Given the description of an element on the screen output the (x, y) to click on. 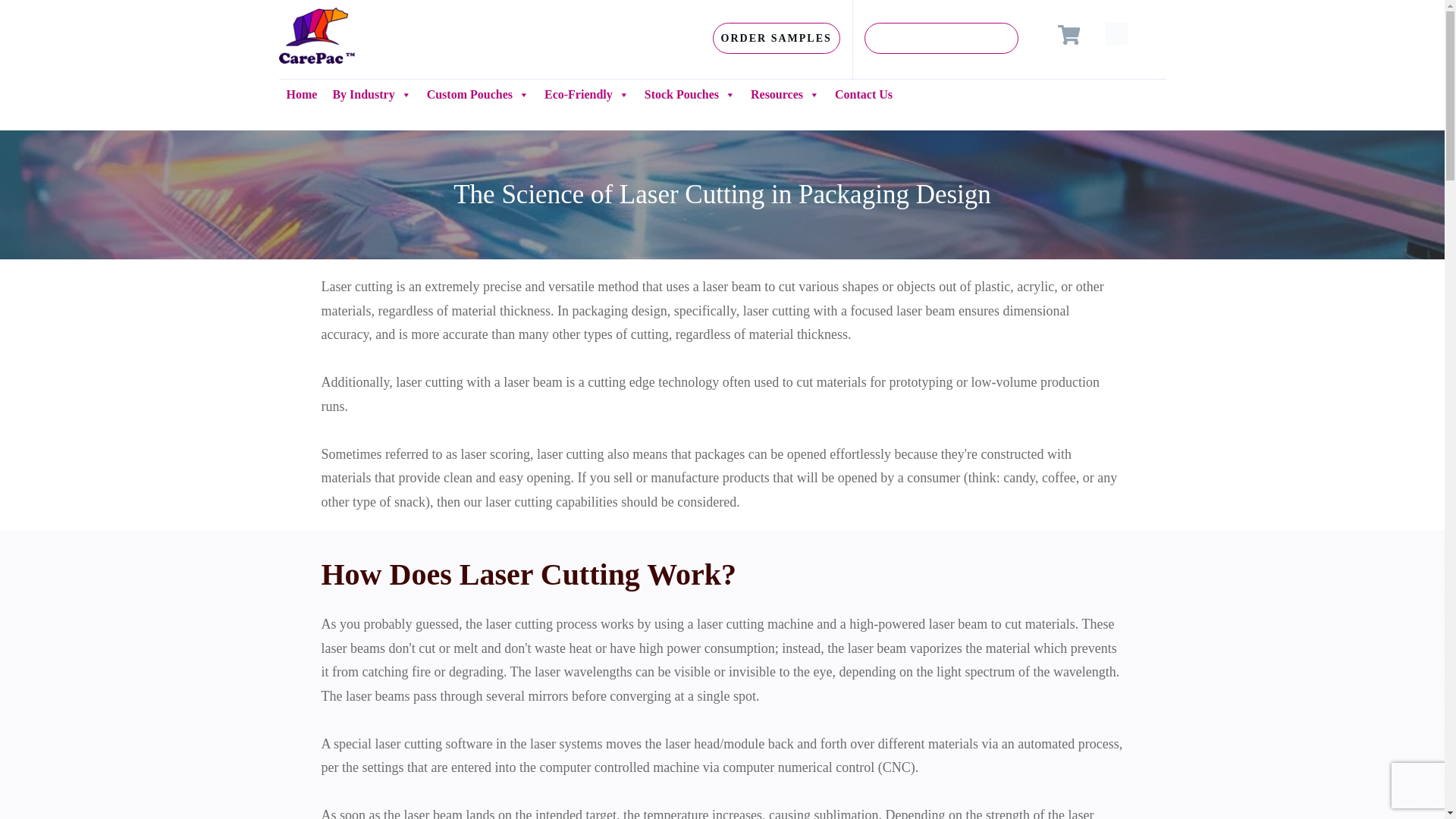
By Industry (371, 94)
Home (301, 94)
round-account-button-with-user-insidegrey (1115, 33)
GET A QUICK QUOTE (940, 38)
ORDER SAMPLES (776, 38)
